Given the description of an element on the screen output the (x, y) to click on. 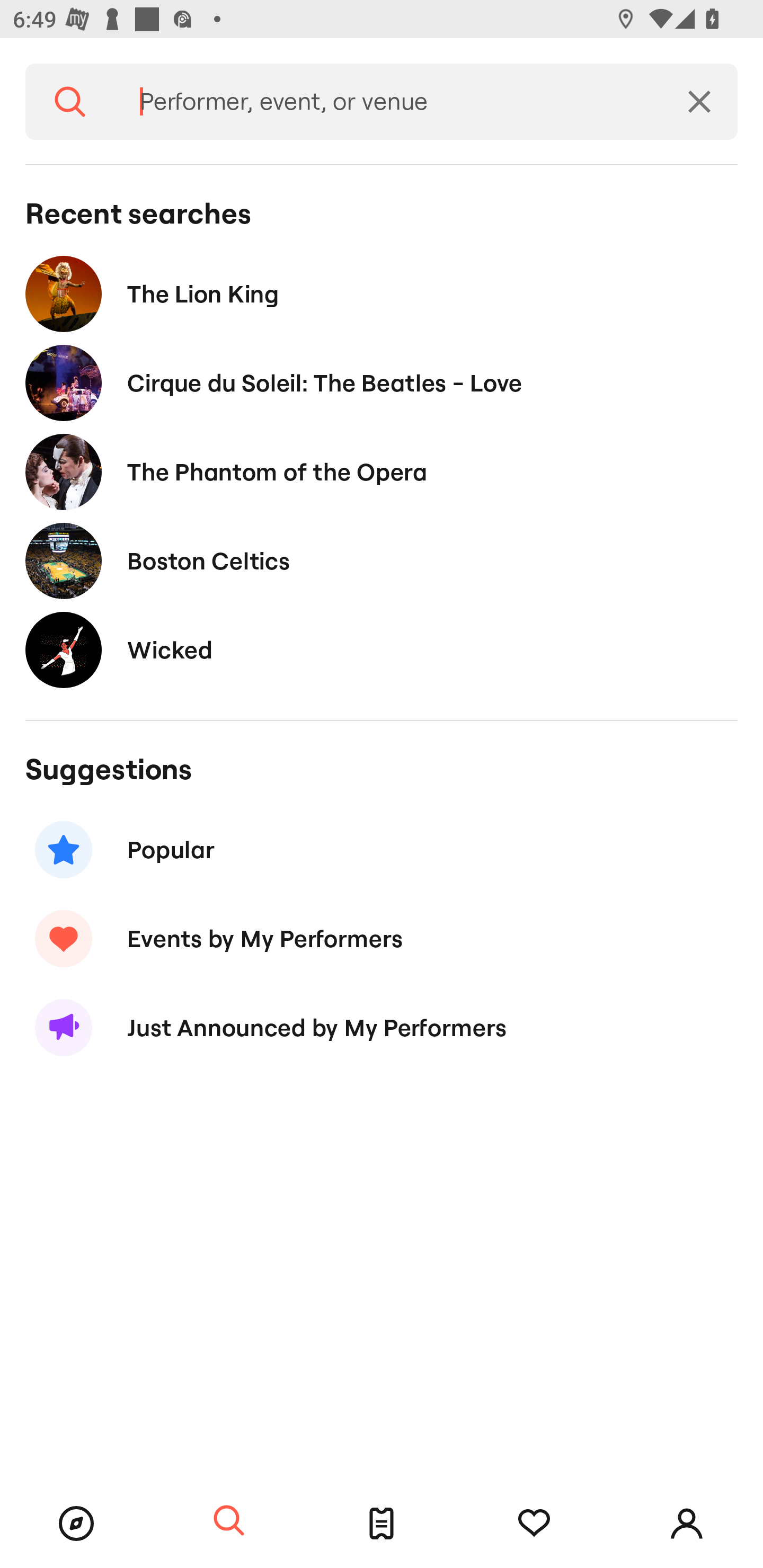
Search (69, 101)
Performer, event, or venue (387, 101)
Clear (699, 101)
The Lion King (381, 293)
Cirque du Soleil: The Beatles - Love (381, 383)
The Phantom of the Opera (381, 471)
Boston Celtics (381, 560)
Wicked (381, 649)
Popular (381, 849)
Events by My Performers (381, 938)
Just Announced by My Performers (381, 1027)
Browse (76, 1523)
Search (228, 1521)
Tickets (381, 1523)
Tracking (533, 1523)
Account (686, 1523)
